Given the description of an element on the screen output the (x, y) to click on. 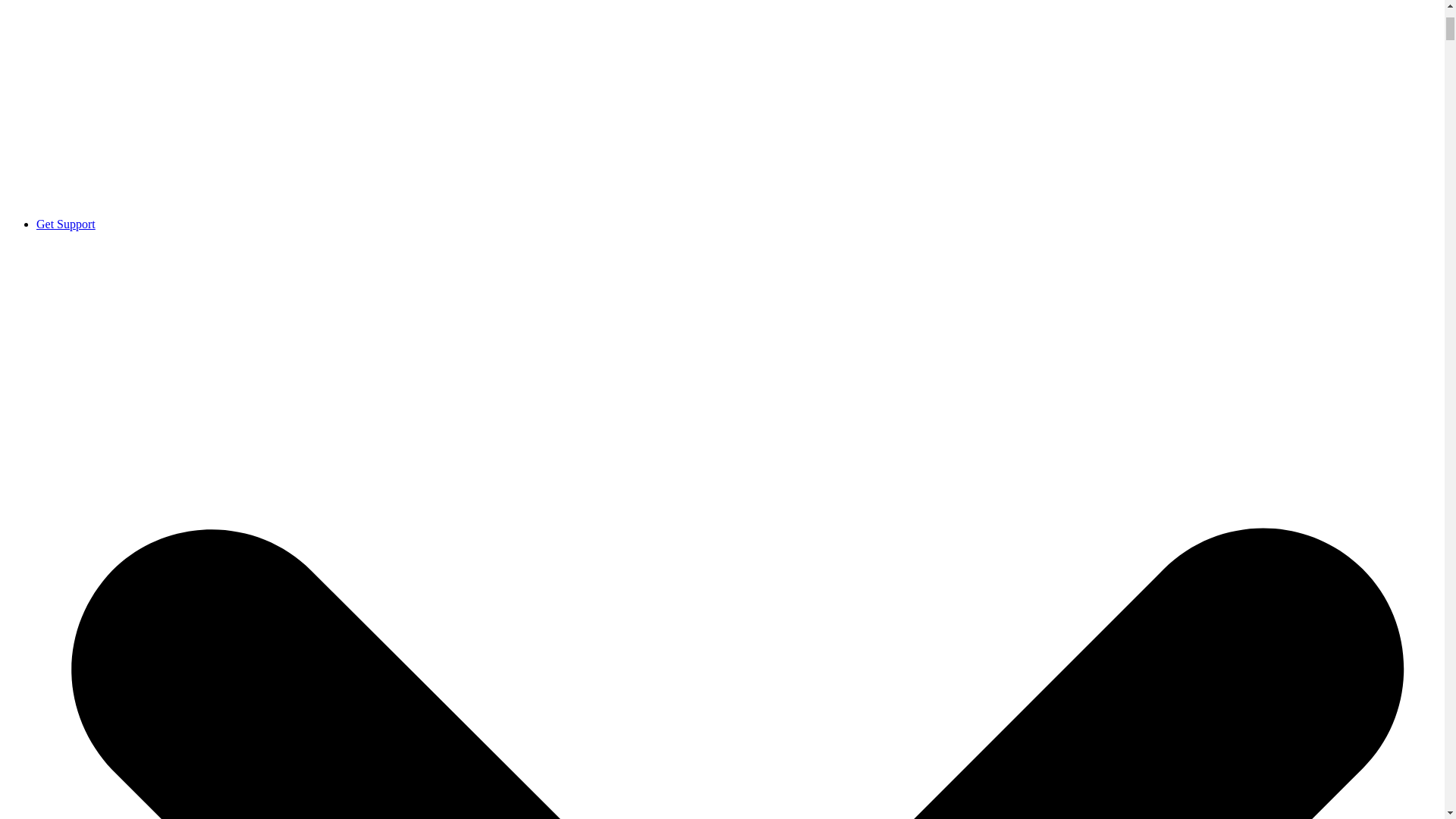
Get Support (66, 223)
